Given the description of an element on the screen output the (x, y) to click on. 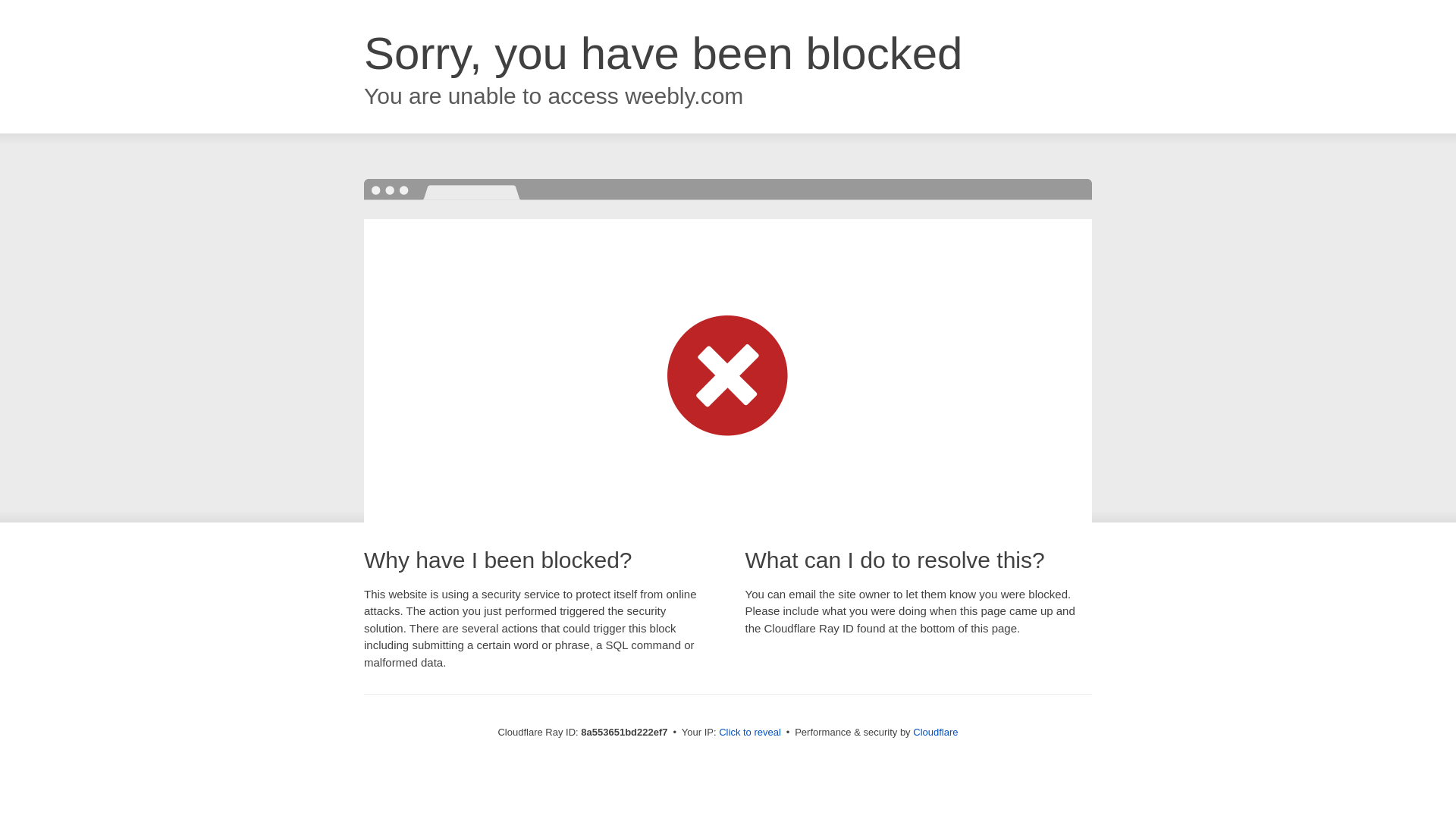
Click to reveal (749, 732)
Cloudflare (935, 731)
